Given the description of an element on the screen output the (x, y) to click on. 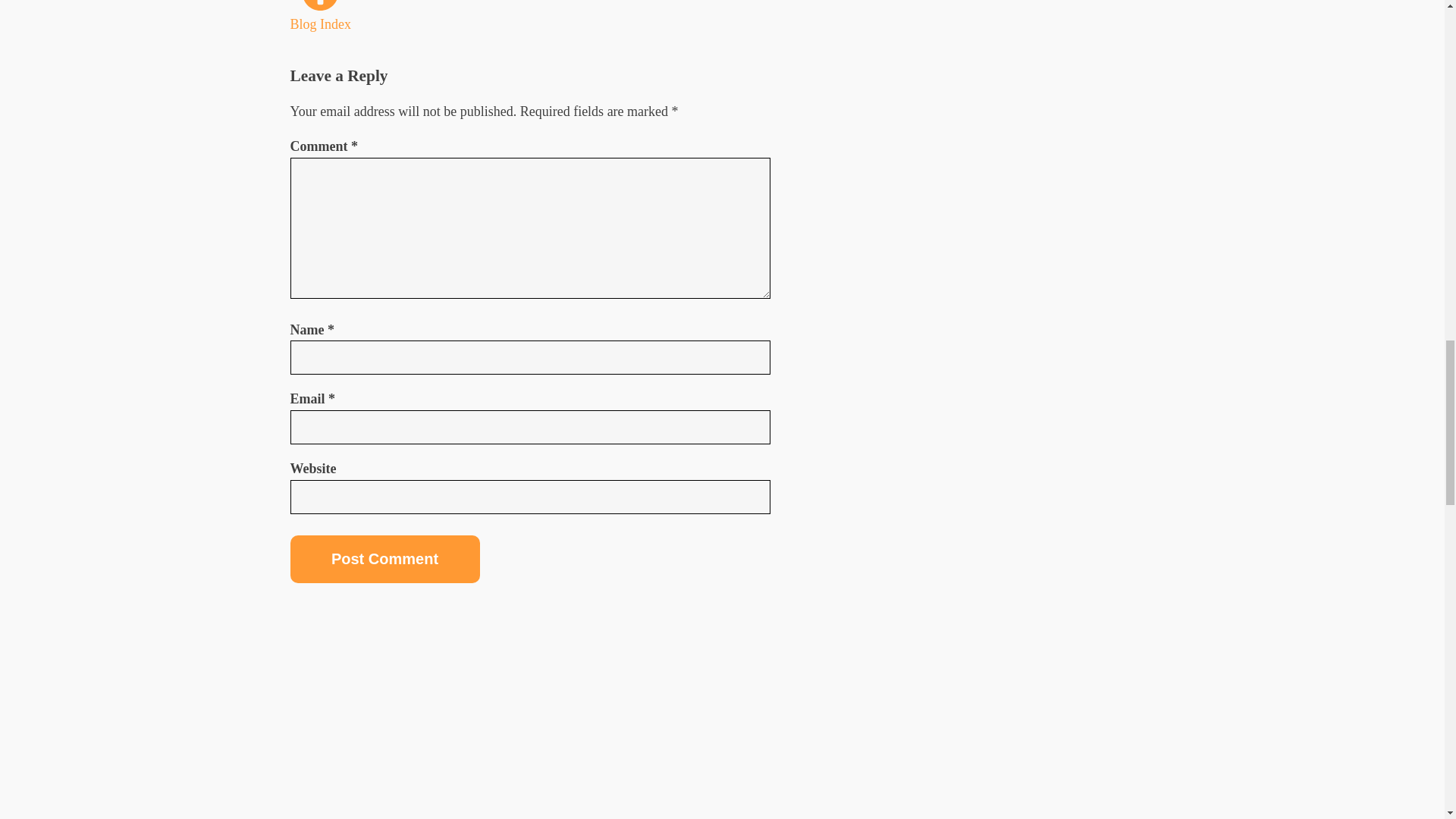
Post Comment (384, 559)
